Given the description of an element on the screen output the (x, y) to click on. 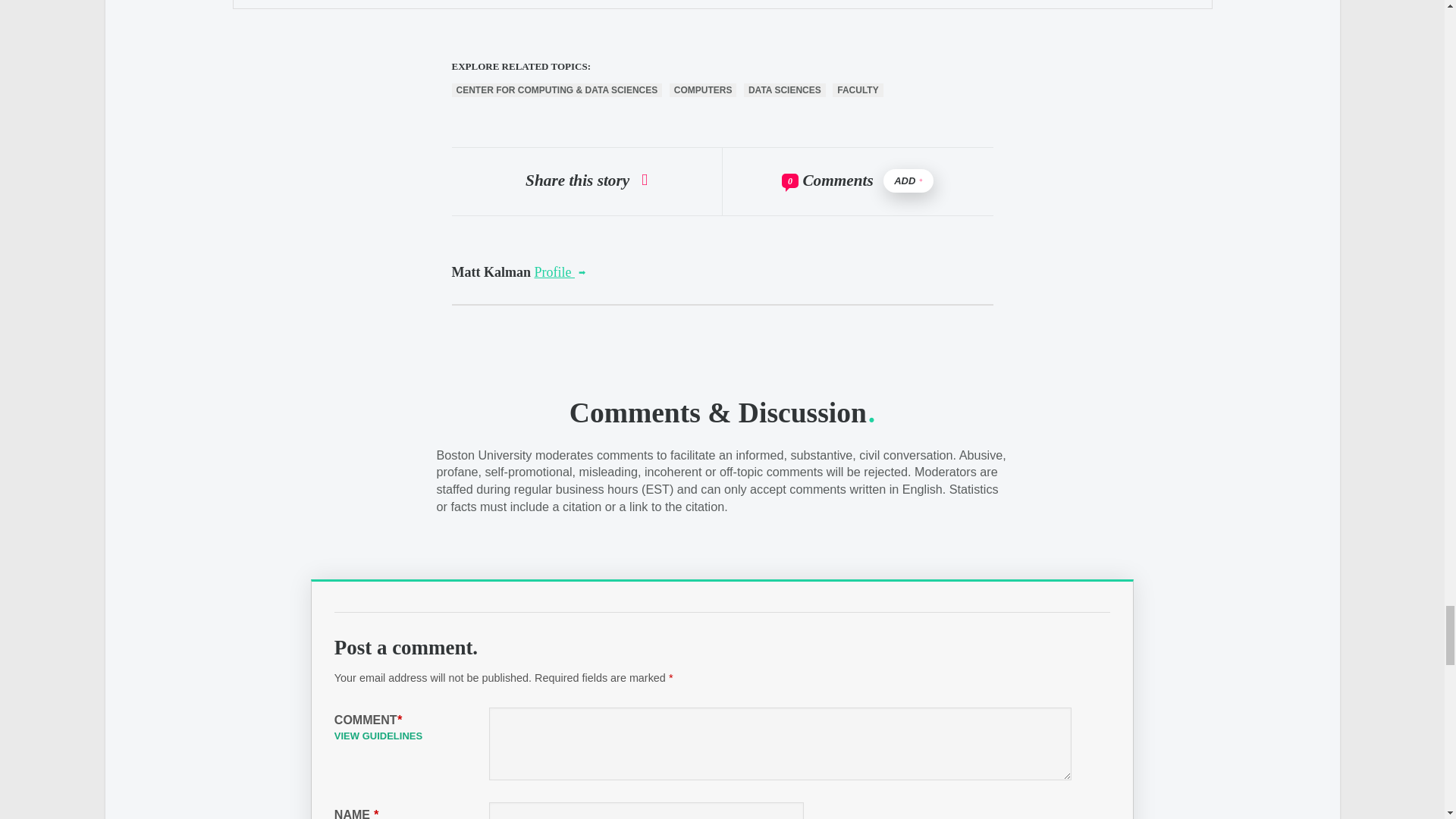
FACULTY (857, 90)
0 (789, 180)
DATA SCIENCES (784, 90)
ADD (908, 180)
VIEW GUIDELINES (378, 736)
Profile (559, 272)
COMPUTERS (702, 90)
